Given the description of an element on the screen output the (x, y) to click on. 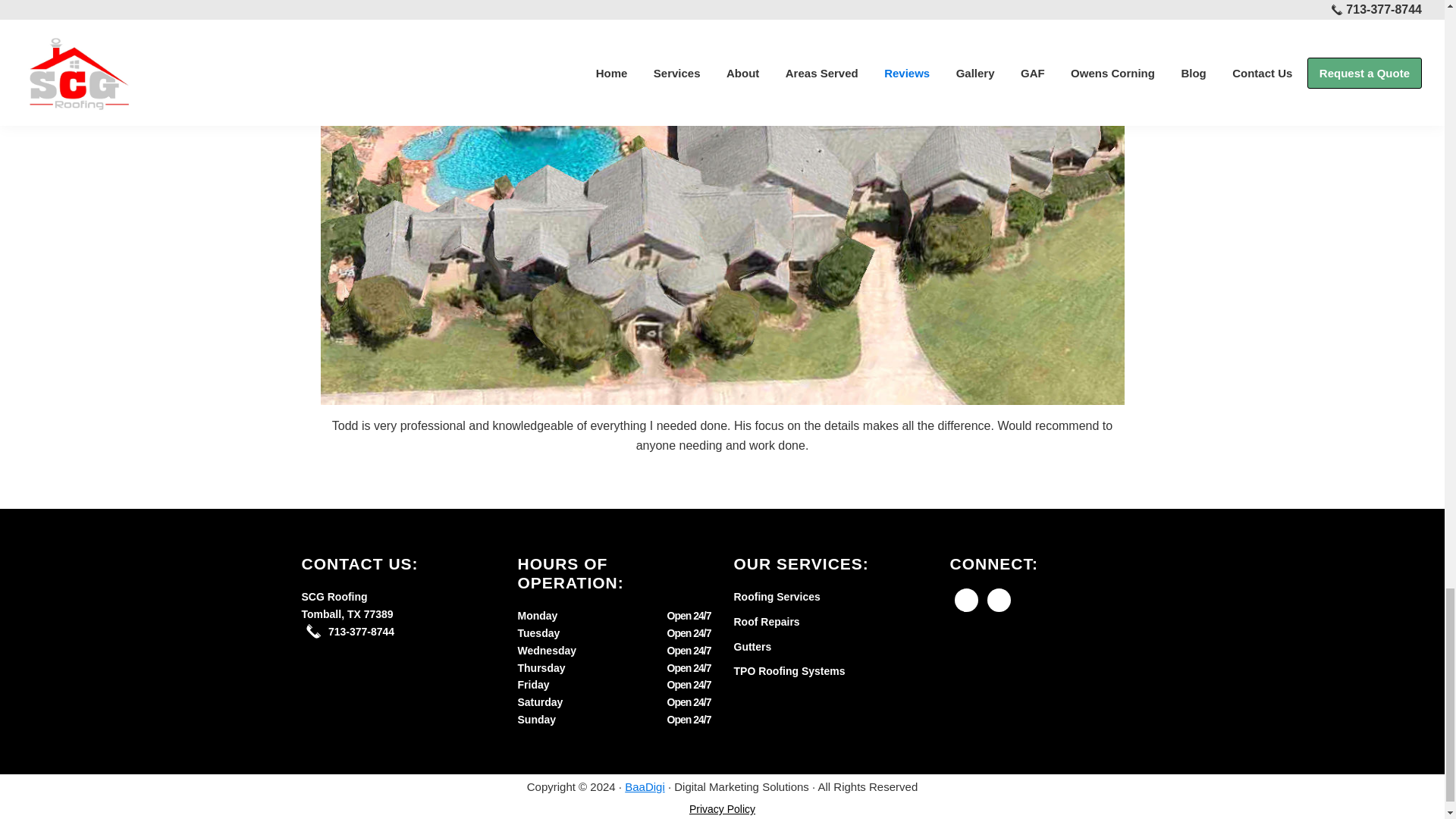
TPO Roofing Systems (789, 671)
BaaDigi (644, 786)
713-377-8744 (361, 631)
Roof Repairs (766, 621)
Gutters (752, 646)
Privacy Policy (721, 808)
Roofing Services (777, 596)
Tomball, TX (332, 613)
